Given the description of an element on the screen output the (x, y) to click on. 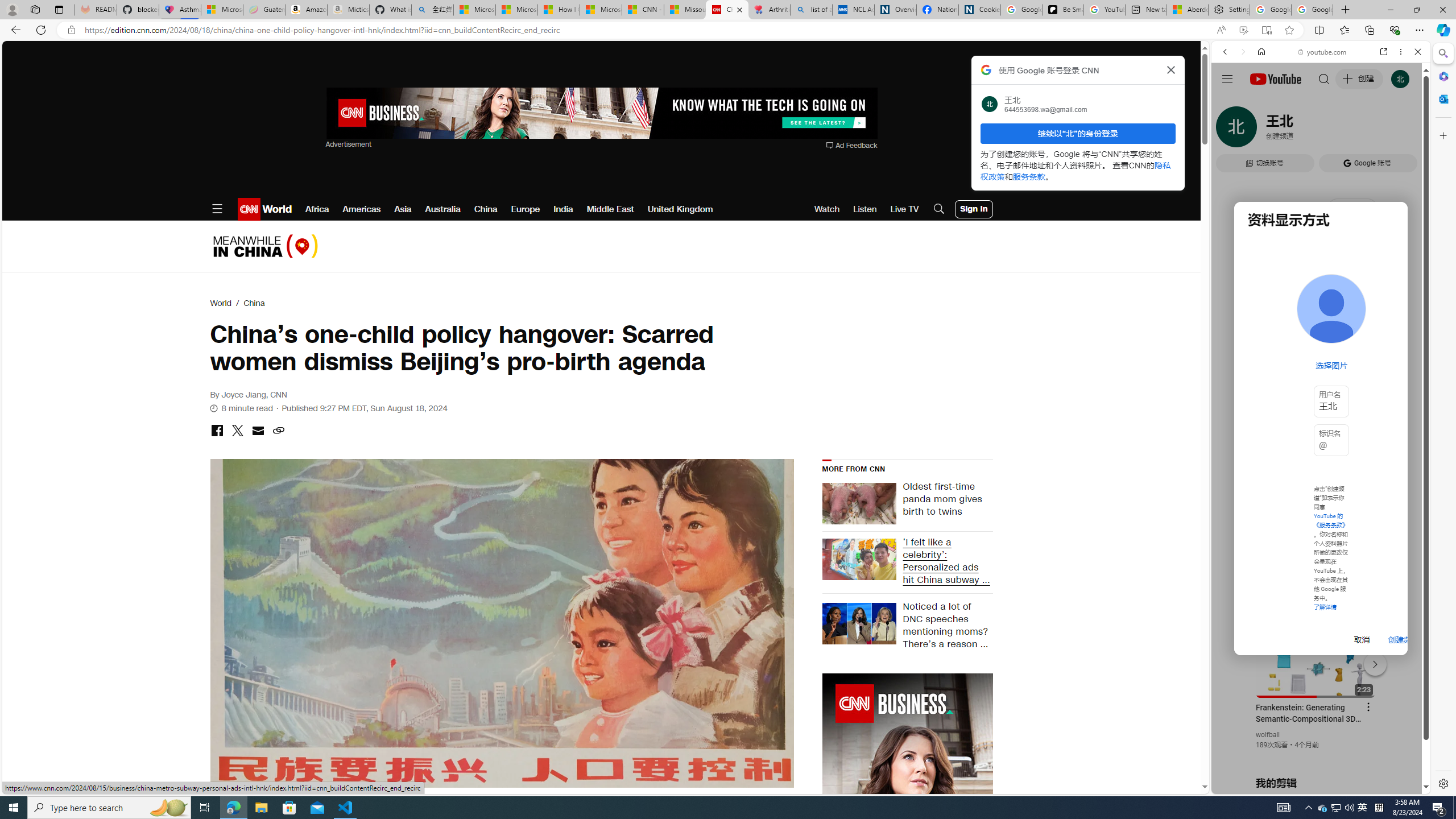
share with facebook (216, 430)
Cookies (979, 9)
Oldest first-time panda mom gives birth to twins (943, 503)
Show More Music (1390, 310)
Search Icon (938, 208)
Class: icon-social-email-fill (257, 430)
